Given the description of an element on the screen output the (x, y) to click on. 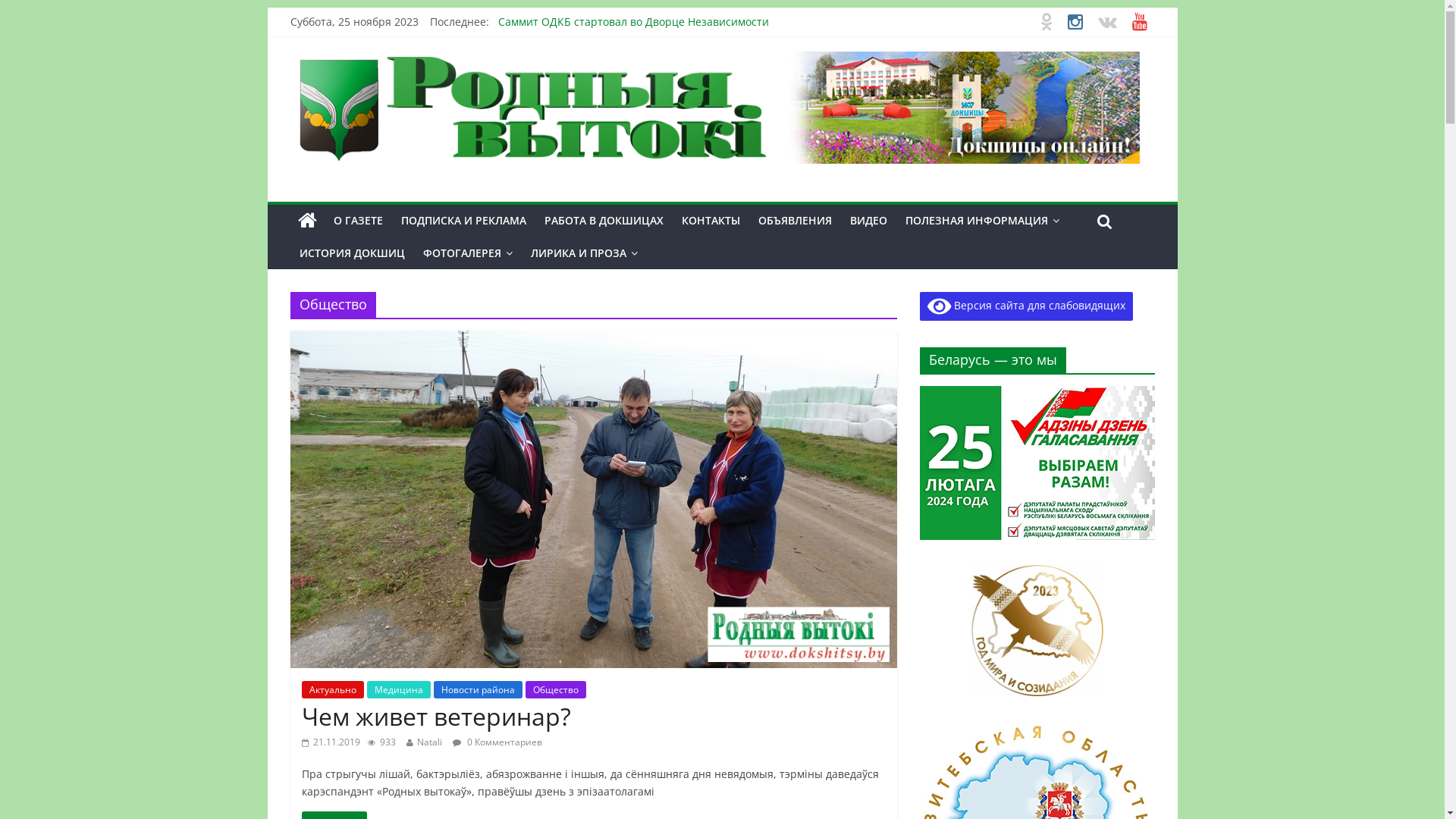
933 Element type: text (381, 741)
Natali Element type: text (429, 741)
21.11.2019 Element type: text (330, 741)
